Given the description of an element on the screen output the (x, y) to click on. 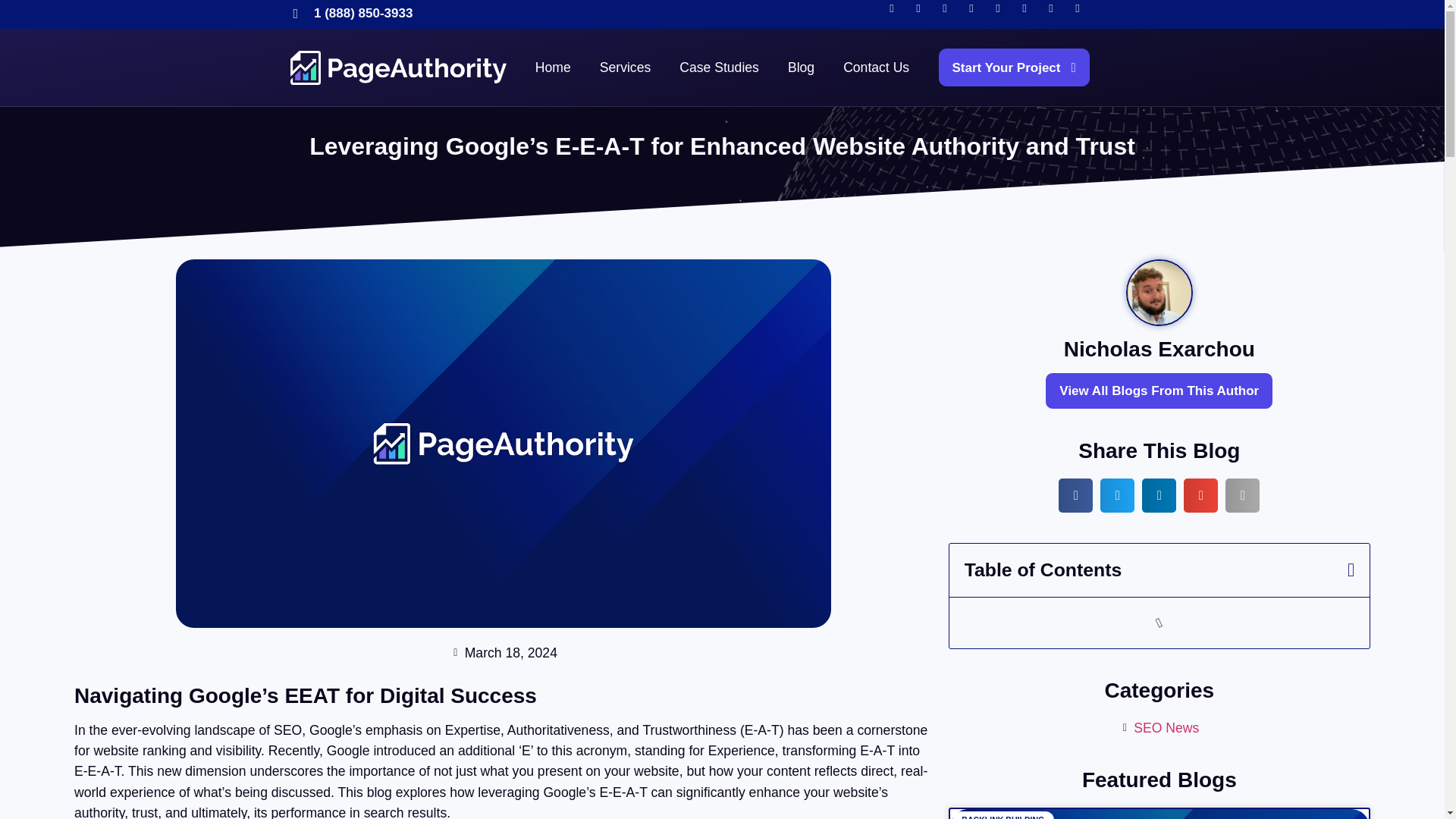
Contact Us (875, 67)
Services (625, 67)
Start Your Project (1014, 67)
Case Studies (719, 67)
Blog (800, 67)
Home (553, 67)
